Given the description of an element on the screen output the (x, y) to click on. 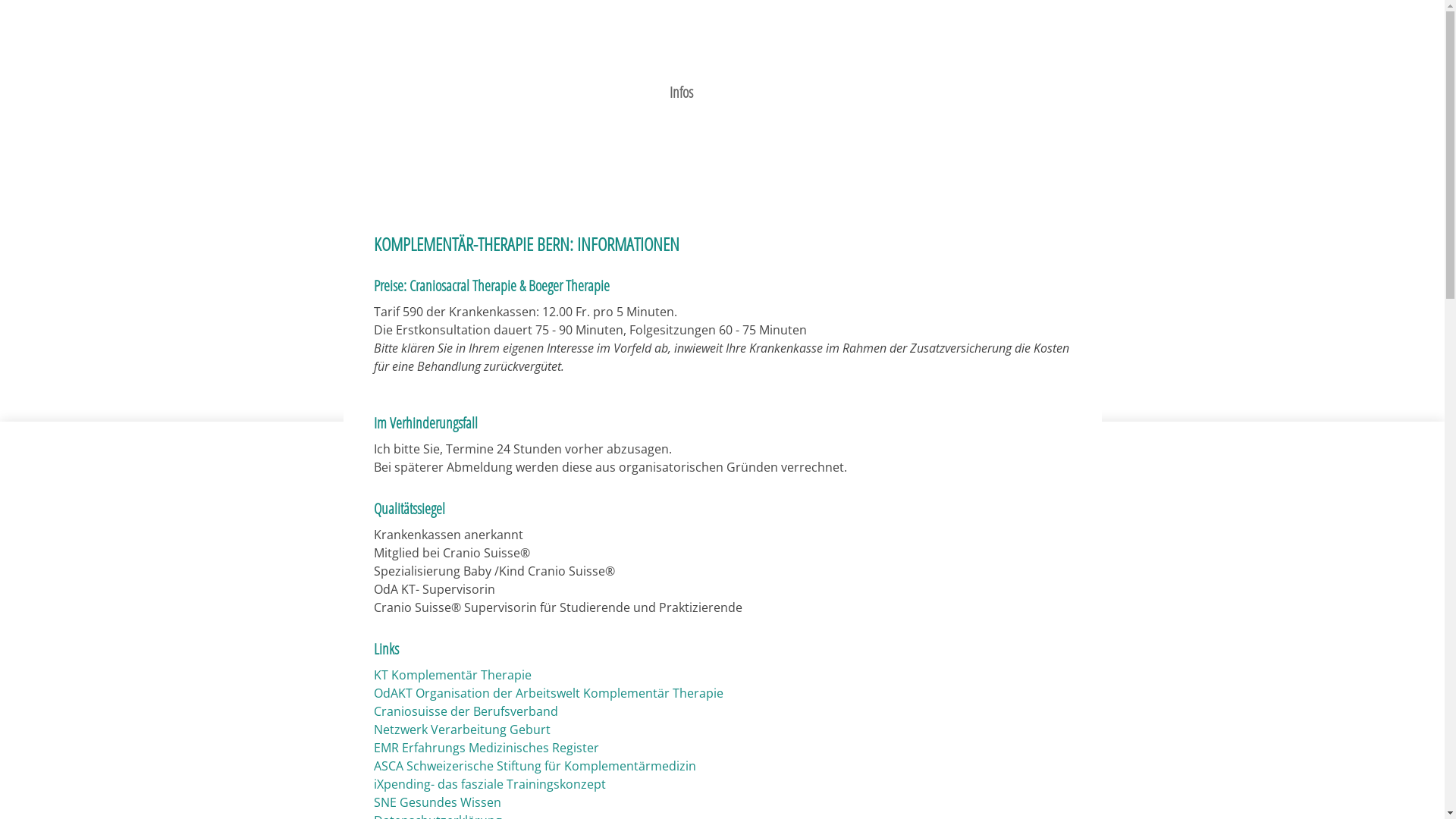
Infos Element type: text (681, 91)
Craniosuisse der Berufsverband Element type: text (465, 710)
EMR Erfahrungs Medizinisches Register Element type: text (485, 747)
Kontakt Element type: text (748, 91)
Faszien-Mobilisation Element type: text (815, 62)
iXpending- das fasziale Trainingskonzept Element type: text (489, 783)
SNE Gesundes Wissen Element type: text (436, 801)
Netzwerk Verarbeitung Geburt Element type: text (461, 729)
Frauen-Familiengesundheit Element type: text (513, 62)
Start Element type: text (396, 62)
Supervision Element type: text (933, 62)
Craniosacral Therapie Element type: text (673, 62)
